Given the description of an element on the screen output the (x, y) to click on. 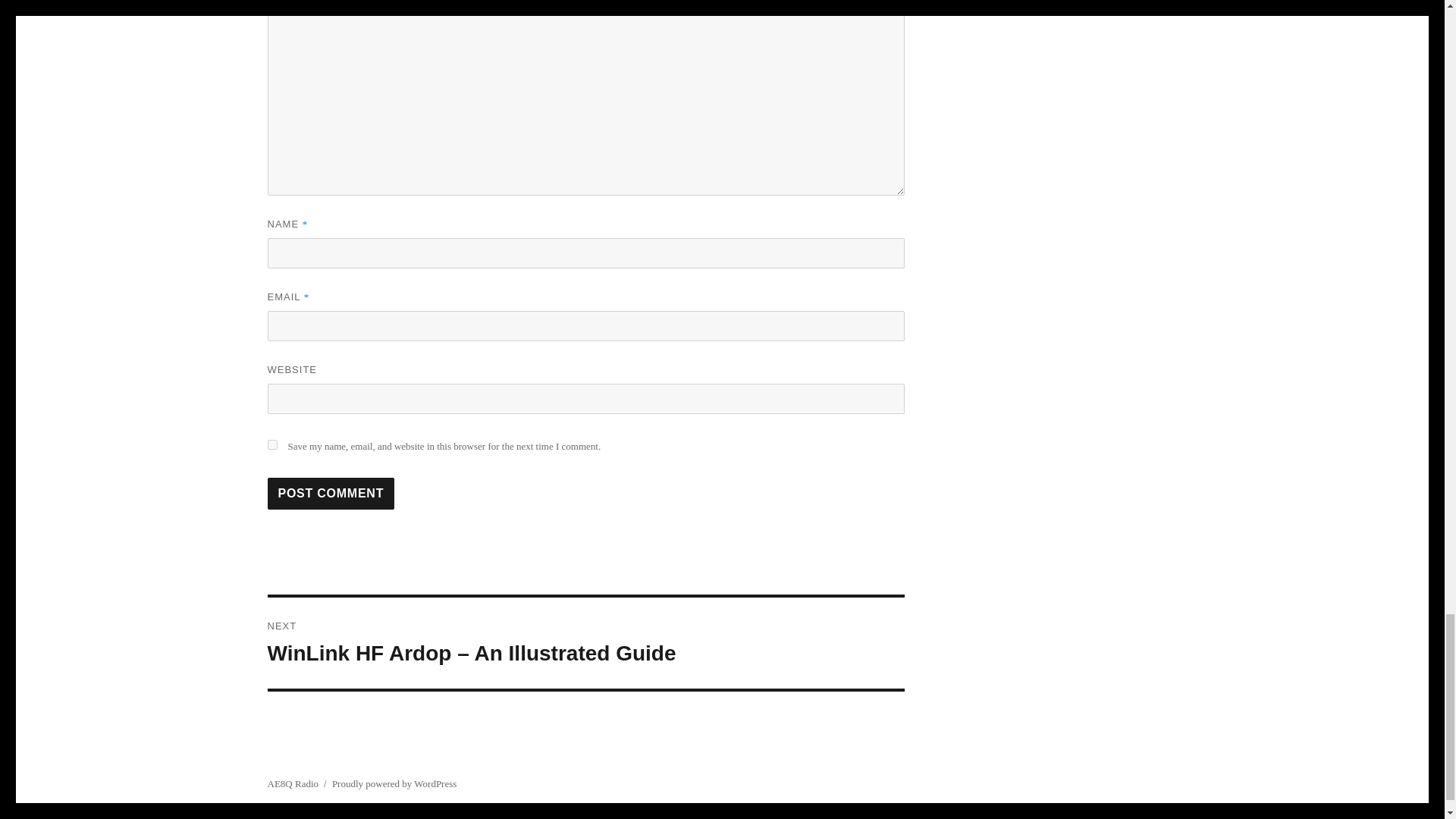
AE8Q Radio (292, 783)
Post Comment (330, 493)
Post Comment (330, 493)
Proudly powered by WordPress (394, 783)
yes (271, 444)
